Given the description of an element on the screen output the (x, y) to click on. 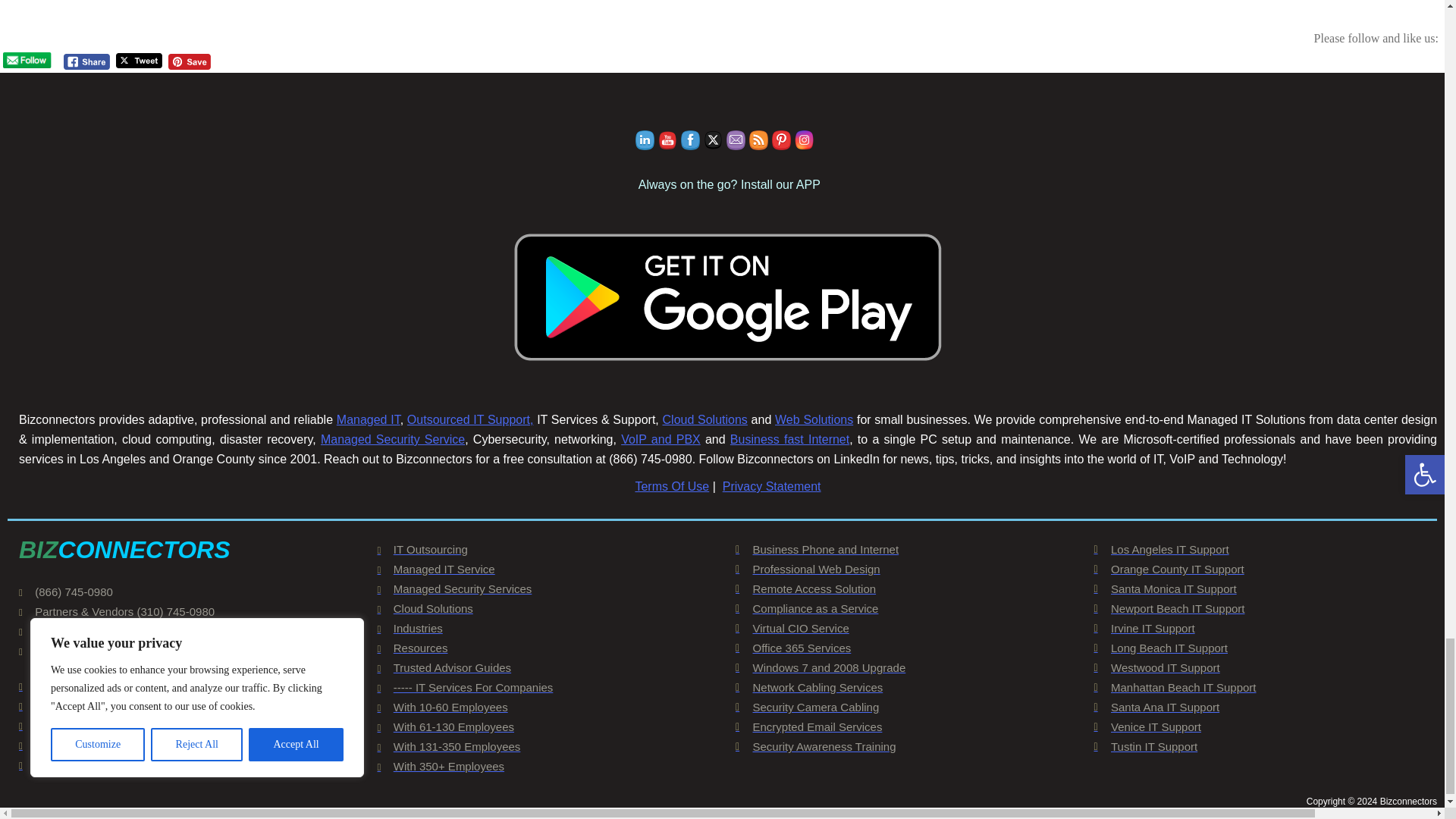
Tweet (139, 60)
Facebook Share (87, 61)
Twitter (712, 139)
YouTube (667, 139)
LinkedIn (643, 140)
Facebook (690, 140)
Pin Share (188, 61)
